Given the description of an element on the screen output the (x, y) to click on. 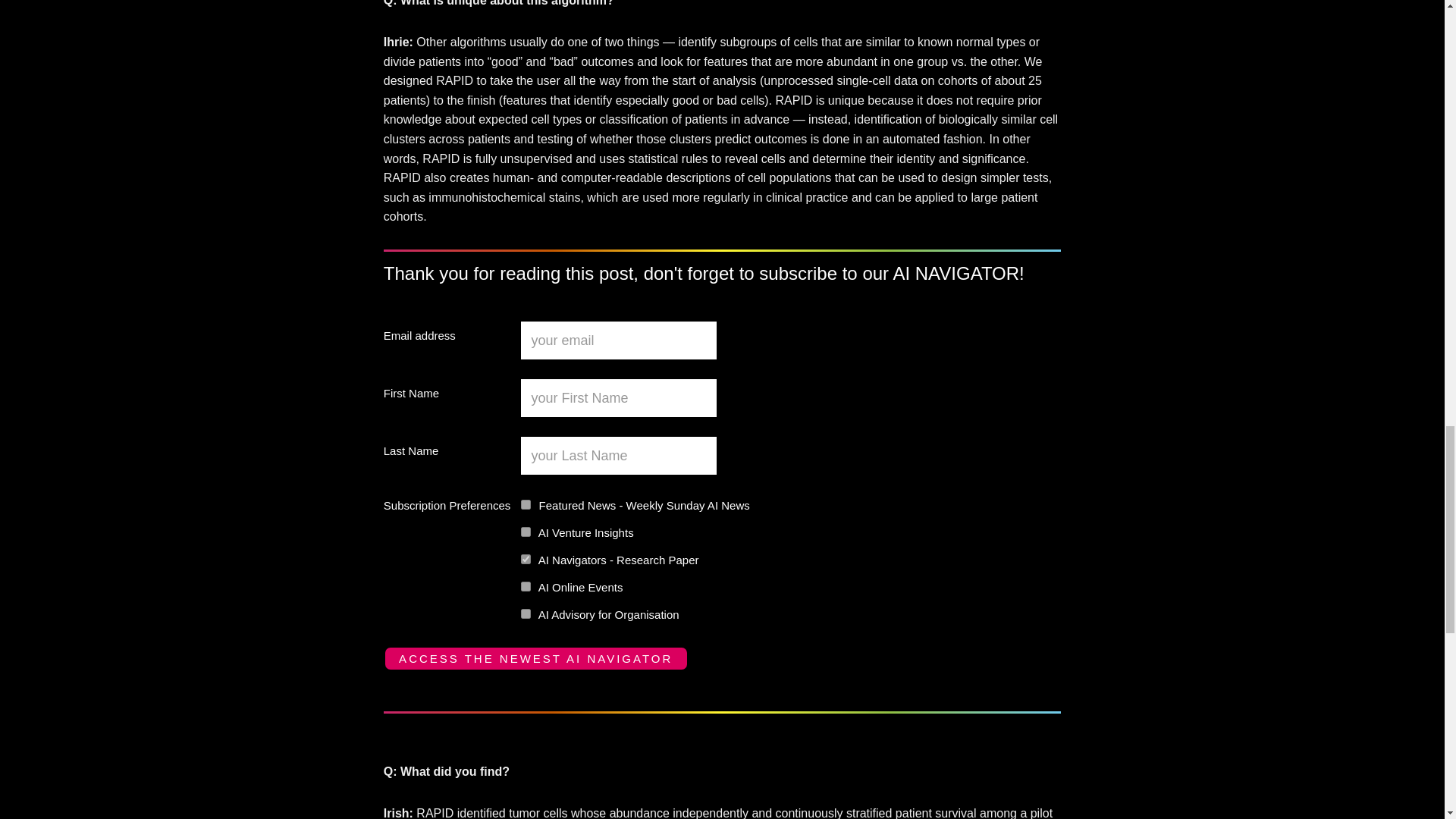
 Access the newest AI Navigator  (536, 658)
65c0f59d25 (526, 614)
f97a5bc7af (526, 586)
ae811de779 (526, 504)
89ca2d054e (526, 559)
48712934fe (526, 532)
